Given the description of an element on the screen output the (x, y) to click on. 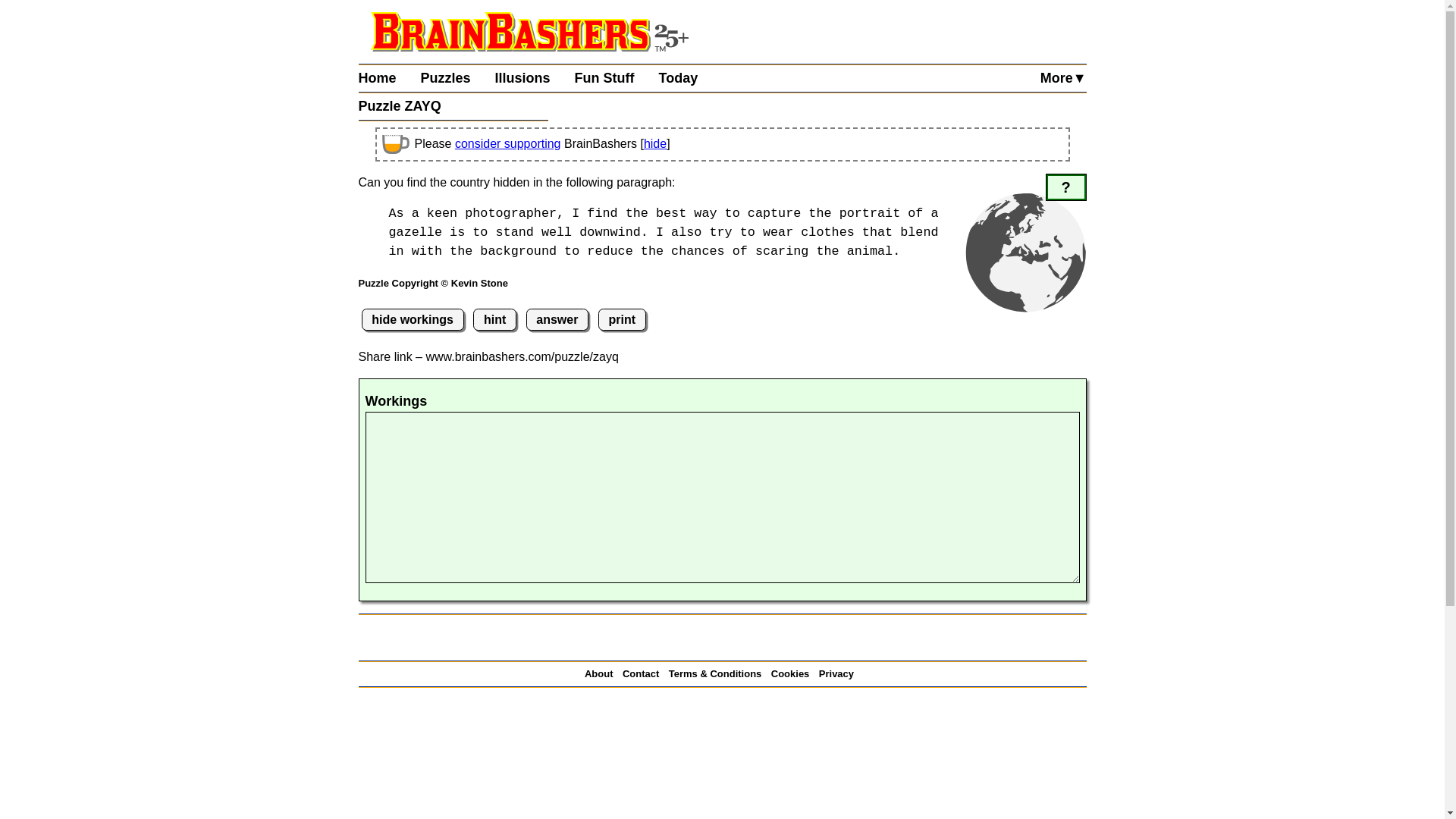
Puzzles (457, 78)
Contact (644, 673)
Illusions (535, 78)
Easy (1066, 186)
print (622, 319)
consider supporting (507, 143)
Privacy (839, 673)
Today (690, 78)
Home (389, 78)
About (602, 673)
